Given the description of an element on the screen output the (x, y) to click on. 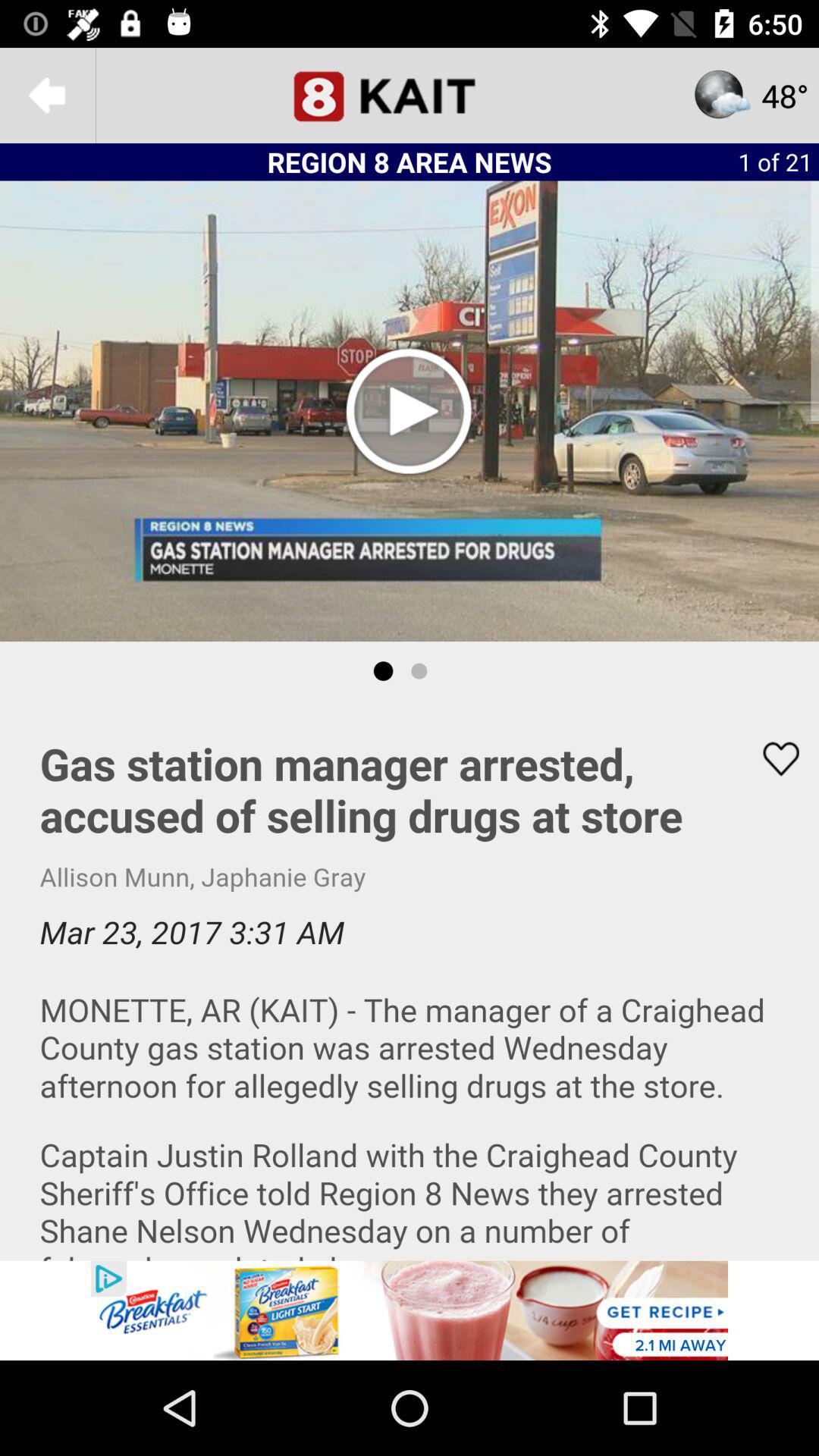
content of the news article (409, 980)
